Given the description of an element on the screen output the (x, y) to click on. 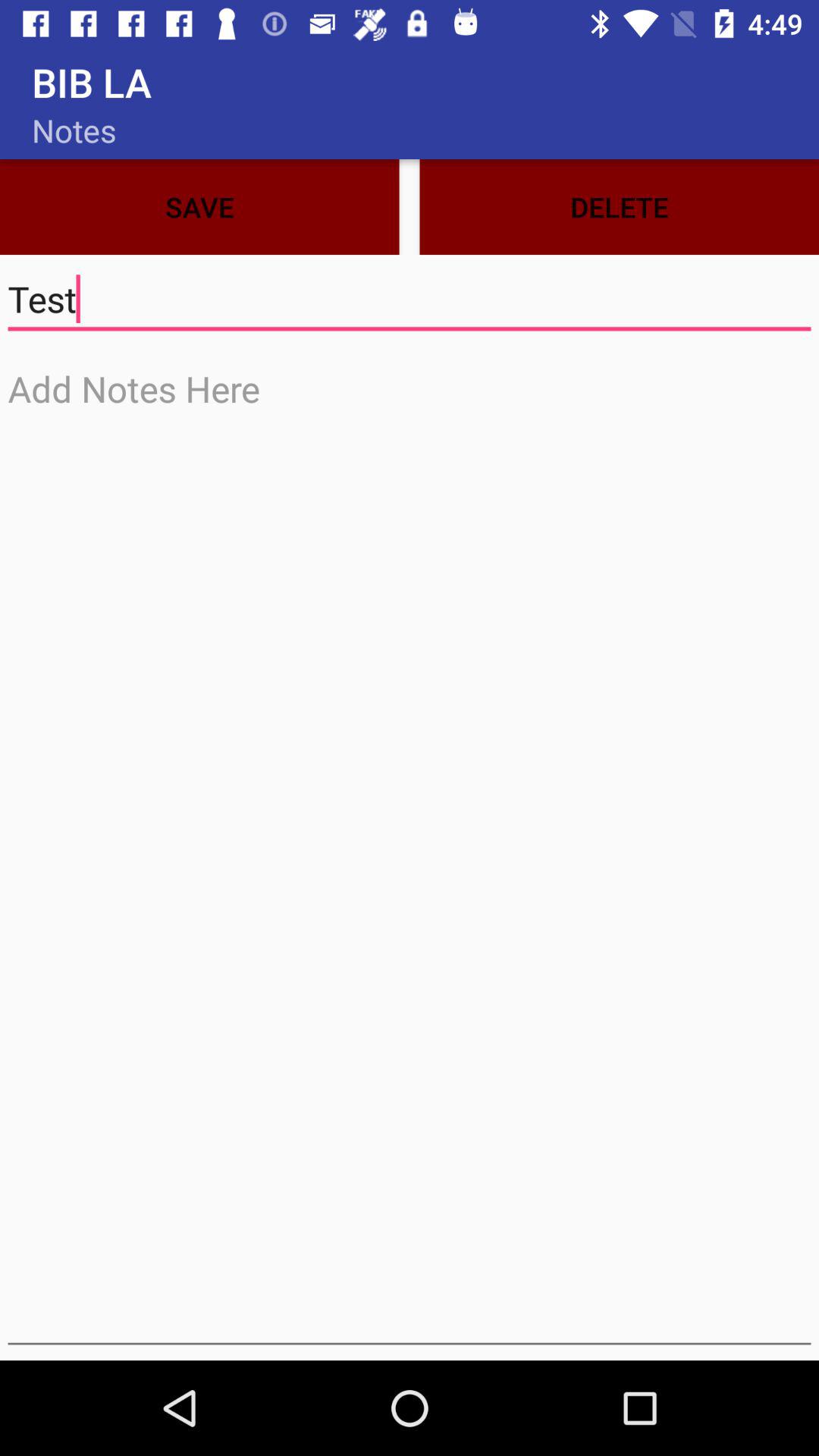
flip to test item (409, 299)
